Given the description of an element on the screen output the (x, y) to click on. 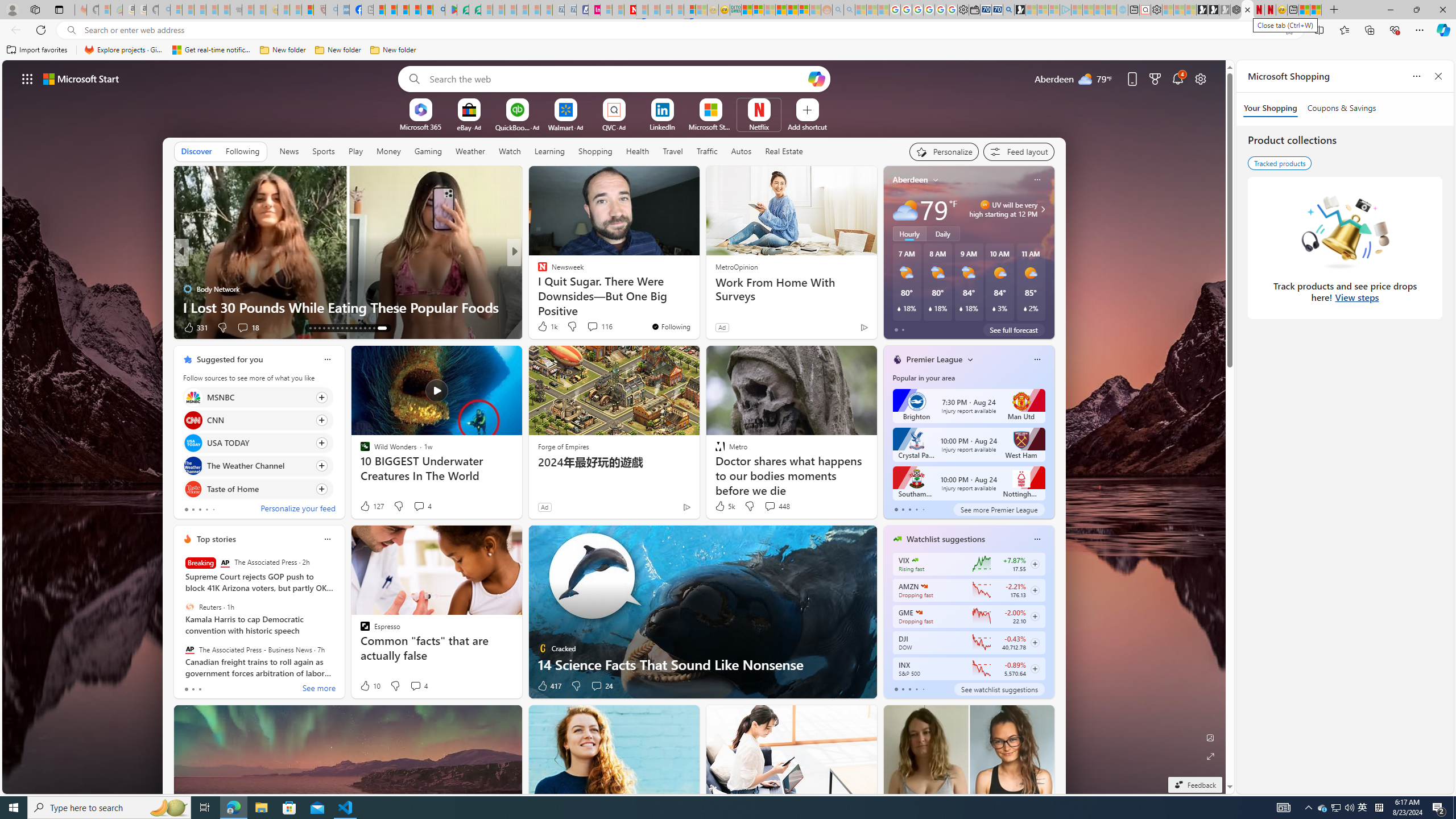
AutomationID: tab-18 (332, 328)
AutomationID: tab-14 (314, 328)
Add a site (807, 126)
AutomationID: tab-13 (310, 328)
Mostly cloudy (904, 208)
